Given the description of an element on the screen output the (x, y) to click on. 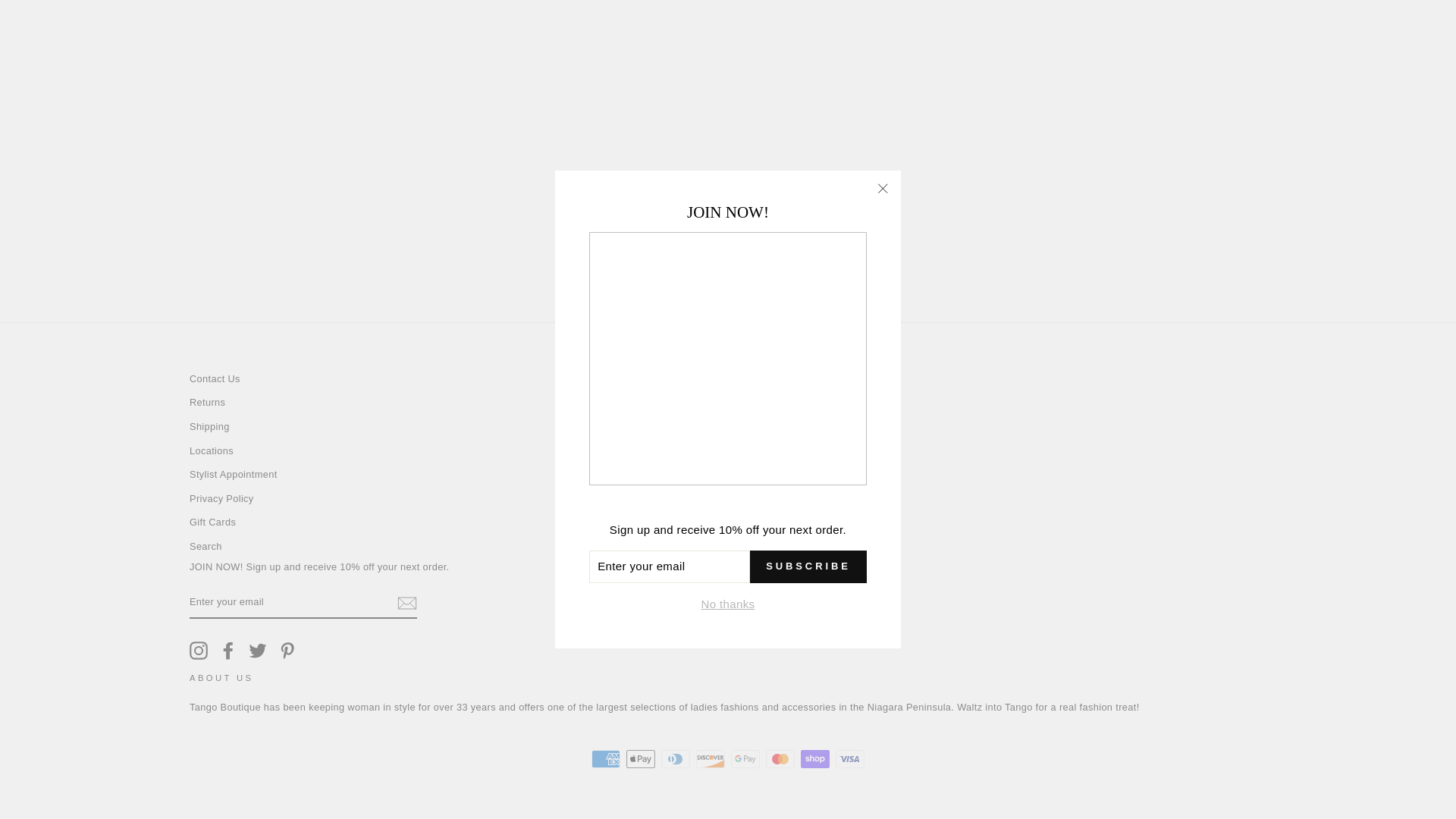
Diners Club (675, 759)
Shop Pay (814, 759)
Apple Pay (640, 759)
Mastercard (779, 759)
Visa (849, 759)
Google Pay (745, 759)
American Express (605, 759)
Discover (710, 759)
